Given the description of an element on the screen output the (x, y) to click on. 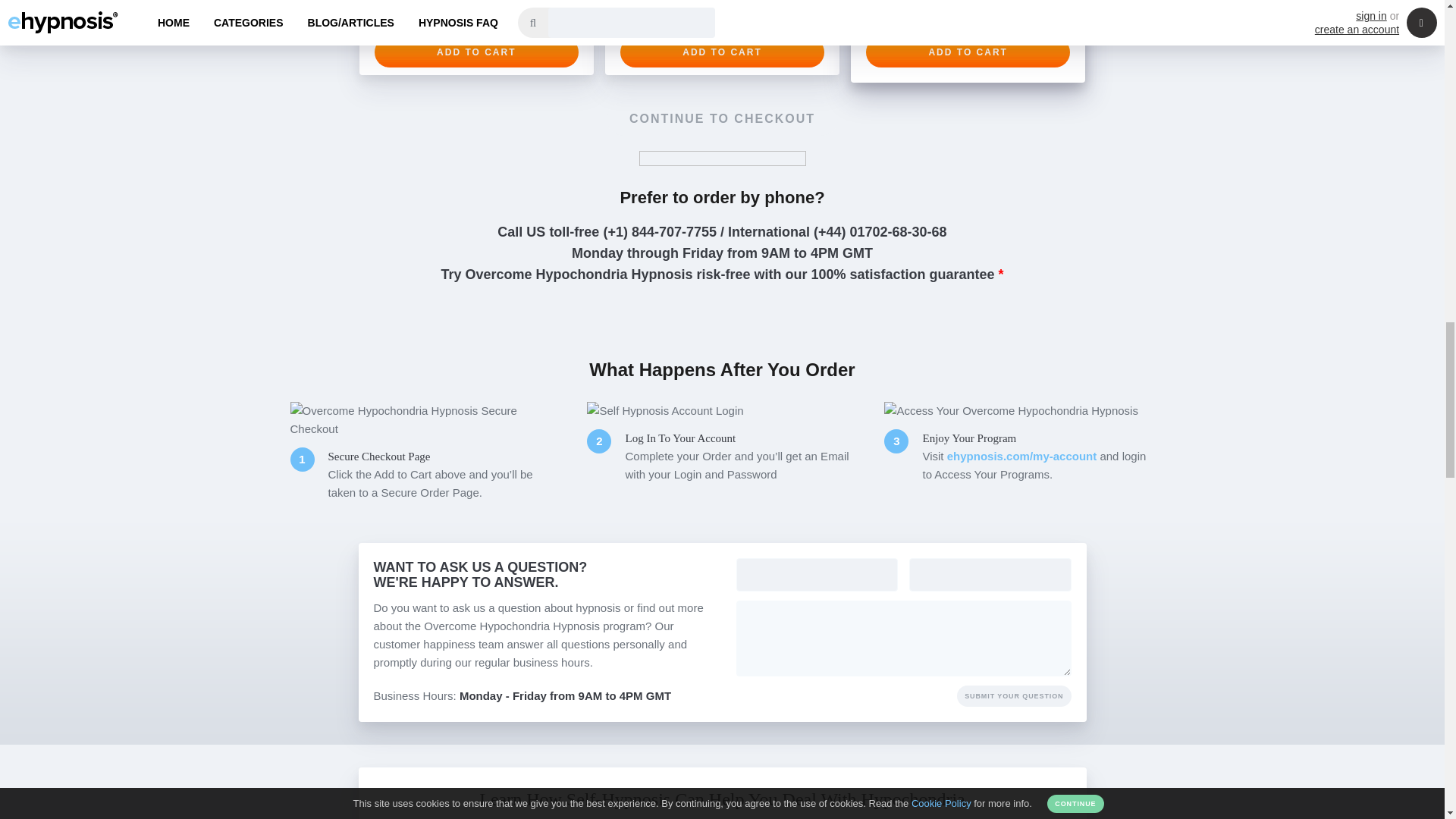
continue to checkout (722, 118)
ADD TO CART (476, 51)
Enter your name... (816, 574)
submit your question (1013, 695)
submit your question (1013, 695)
ADD TO CART (968, 51)
Enter your email address... (989, 574)
ADD TO CART (722, 51)
continue to checkout (722, 118)
Enter your question... (902, 638)
